Given the description of an element on the screen output the (x, y) to click on. 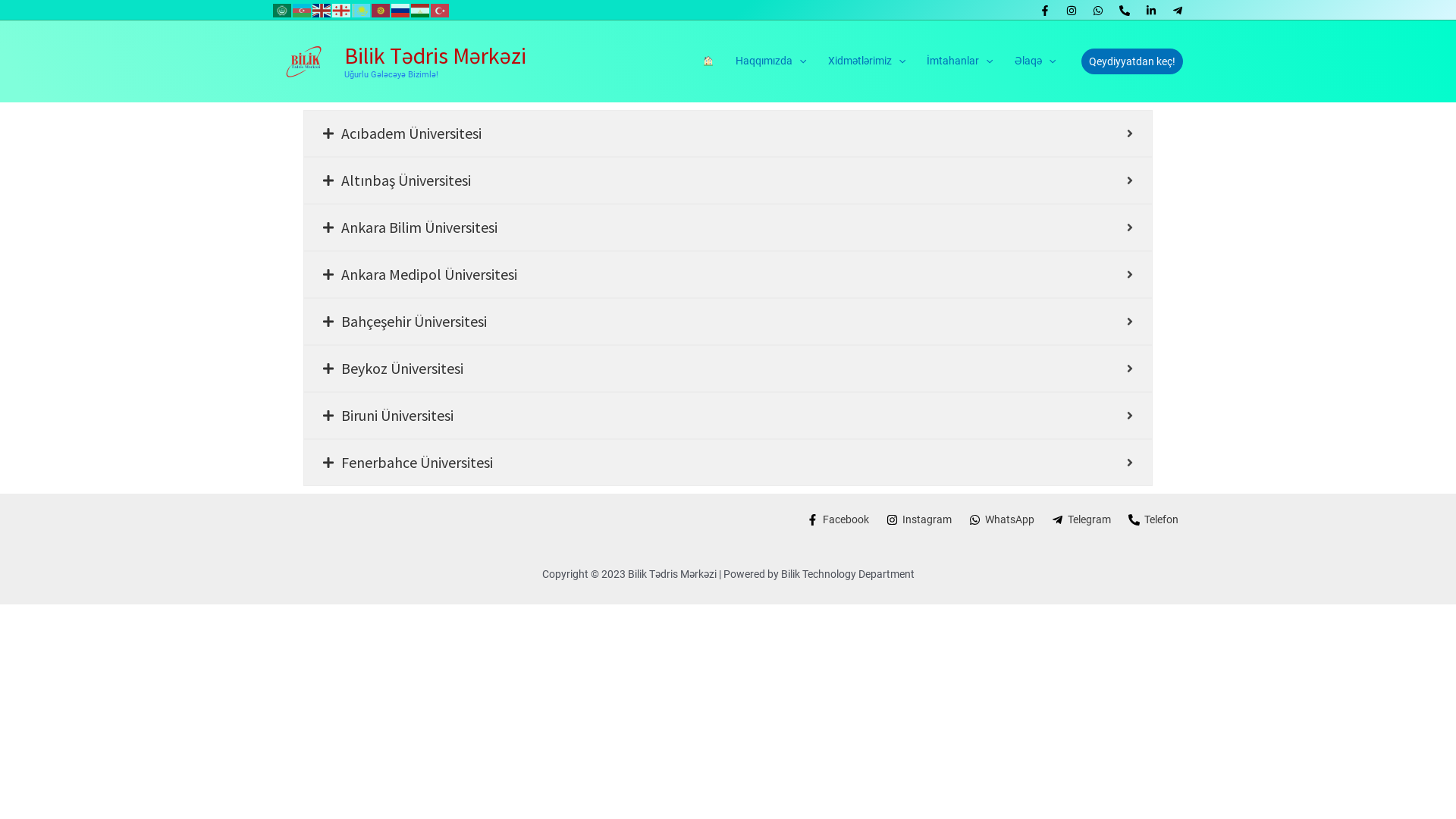
Instagram Element type: text (918, 519)
Telegram Element type: text (1081, 519)
Facebook Element type: text (837, 519)
Telefon Element type: text (1153, 519)
English Element type: hover (322, 9)
WhatsApp Element type: text (1001, 519)
